Given the description of an element on the screen output the (x, y) to click on. 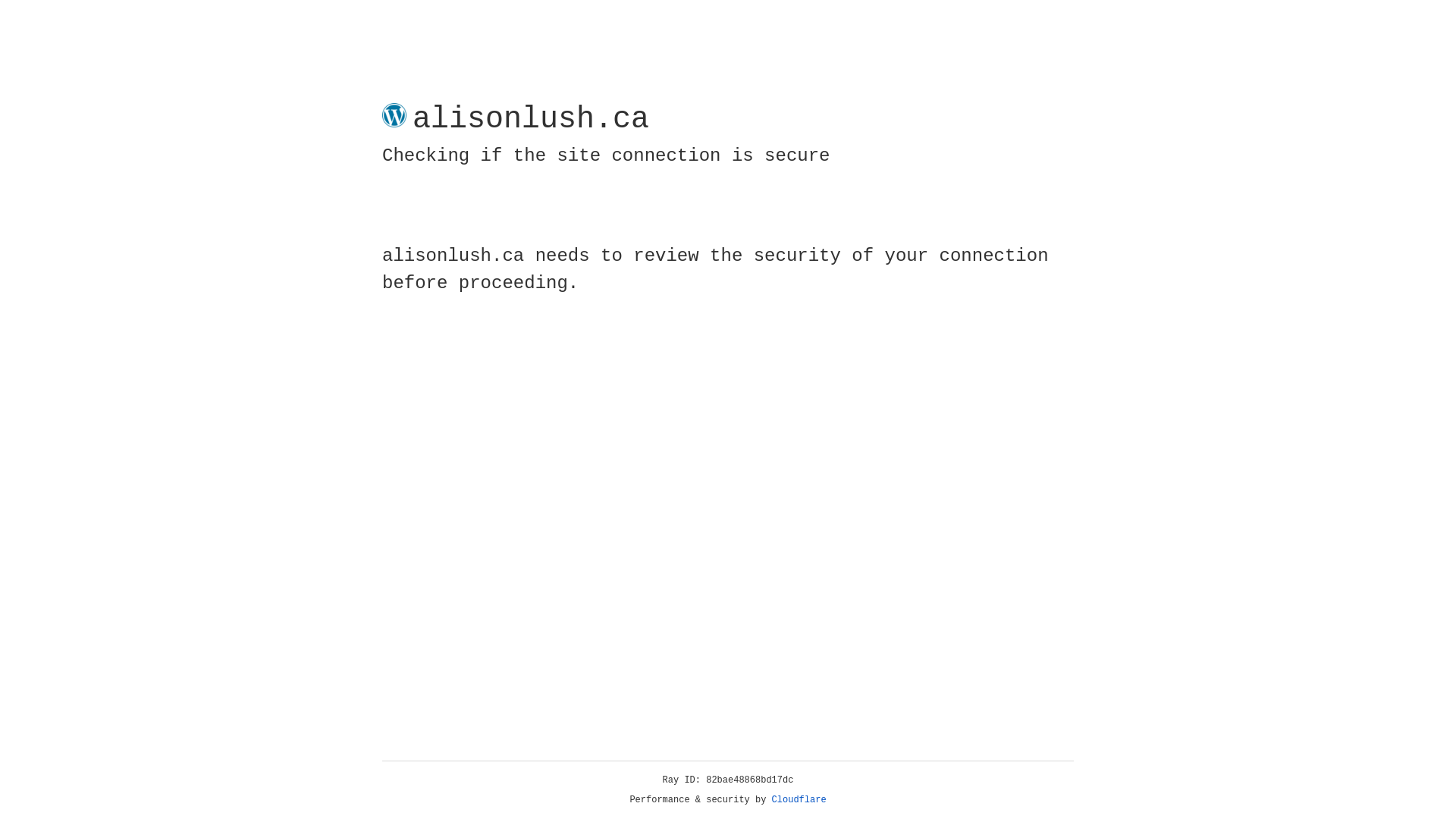
Cloudflare Element type: text (798, 799)
